Given the description of an element on the screen output the (x, y) to click on. 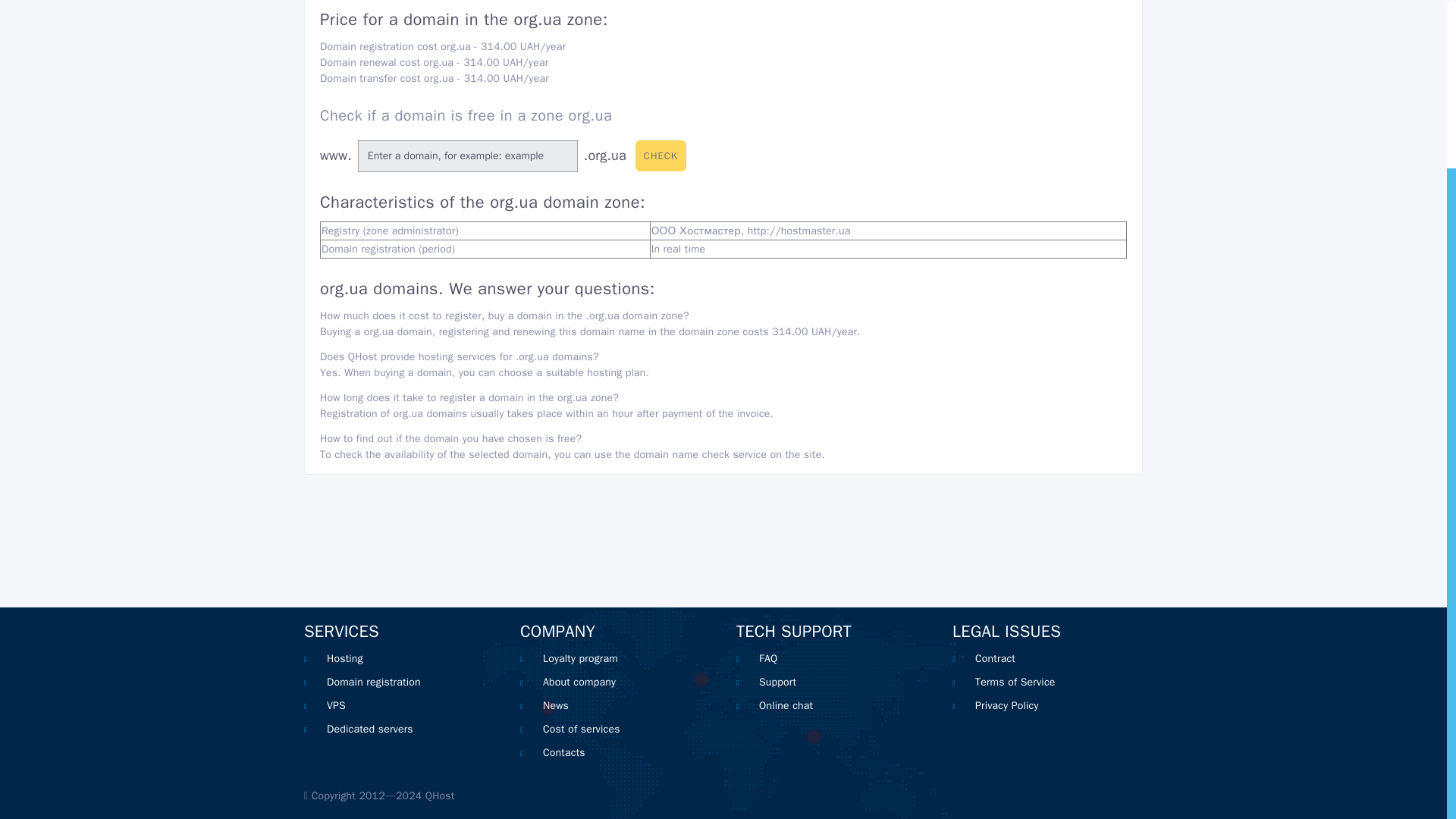
Loyalty program (580, 658)
Hosting (344, 658)
About company (579, 681)
Domain registration (373, 681)
News (556, 705)
VPS (336, 705)
Check if a domain is free in a zone org.ua (465, 115)
Dedicated servers (369, 728)
CHECK (659, 155)
